Given the description of an element on the screen output the (x, y) to click on. 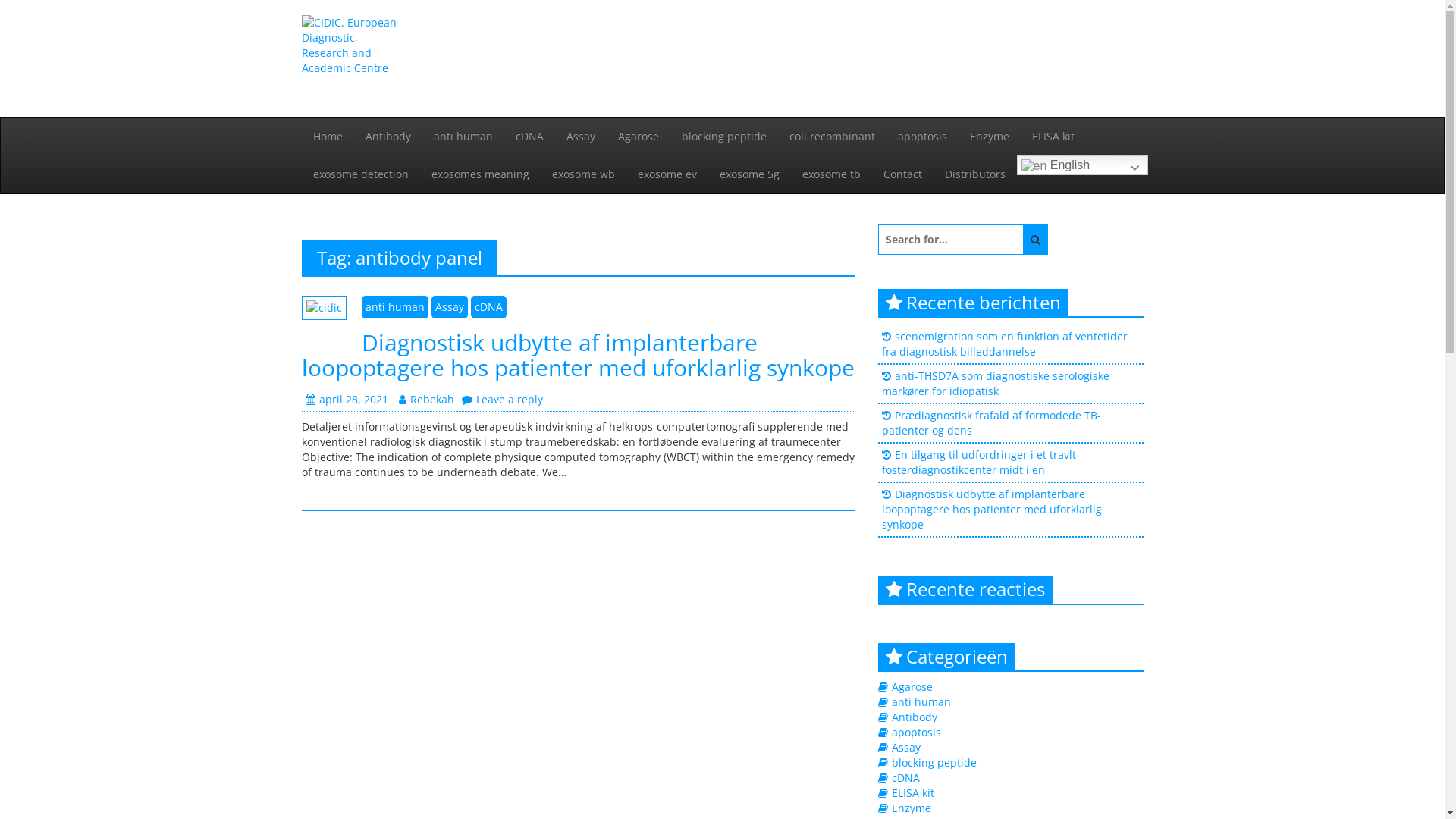
Rebekah Element type: text (426, 399)
Antibody Element type: text (387, 136)
anti human Element type: text (393, 306)
cDNA Element type: text (528, 136)
Distributors Element type: text (974, 174)
Contact Element type: text (902, 174)
Antibody Element type: text (914, 716)
april 28, 2021 Element type: text (345, 399)
cDNA Element type: text (487, 306)
Agarose Element type: text (911, 686)
Home Element type: text (327, 136)
Enzyme Element type: text (911, 807)
exosome detection Element type: text (360, 174)
exosome wb Element type: text (582, 174)
Assay Element type: text (580, 136)
CIDIC, European Diagnostic, Research and Academic Centre Element type: text (496, 169)
Enzyme Element type: text (989, 136)
blocking peptide Element type: text (724, 136)
blocking peptide Element type: text (933, 762)
apoptosis Element type: text (921, 136)
coli recombinant Element type: text (832, 136)
apoptosis Element type: text (916, 731)
anti human Element type: text (462, 136)
exosome ev Element type: text (667, 174)
ELISA kit Element type: text (1052, 136)
English Element type: text (1081, 165)
exosomes meaning Element type: text (480, 174)
Assay Element type: text (905, 747)
exosome 5g Element type: text (749, 174)
anti human Element type: text (920, 701)
Search for: Element type: hover (950, 239)
ELISA kit Element type: text (912, 792)
cDNA Element type: text (905, 777)
Assay Element type: text (448, 306)
Leave a reply Element type: text (501, 399)
Agarose Element type: text (638, 136)
exosome tb Element type: text (830, 174)
